Given the description of an element on the screen output the (x, y) to click on. 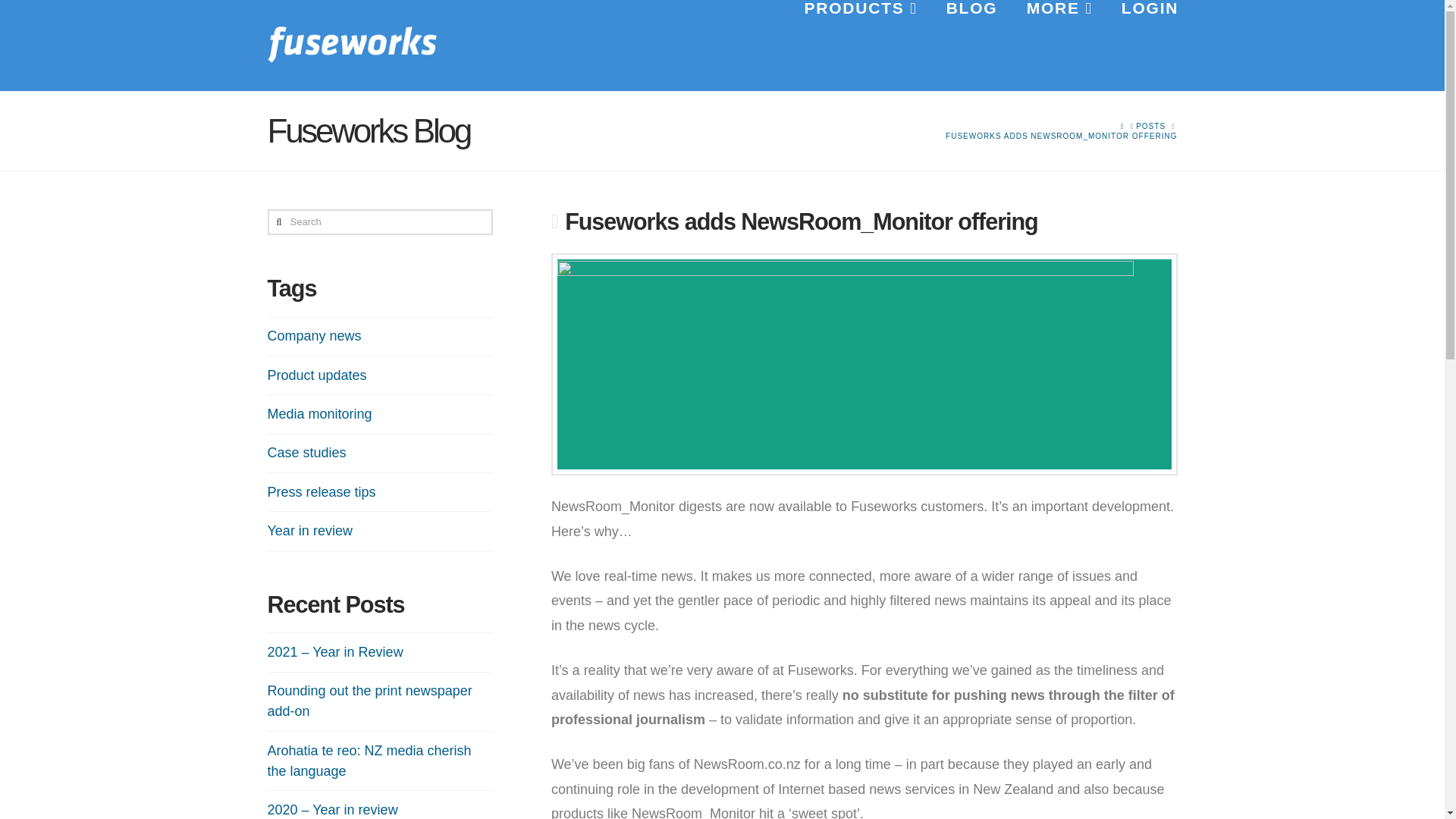
Press release tips (320, 492)
PRODUCTS (859, 45)
MORE (1058, 45)
Case studies (306, 453)
You Are Here (1060, 135)
Company news (313, 335)
POSTS (1150, 126)
Product updates (316, 375)
Media monitoring (318, 414)
